Given the description of an element on the screen output the (x, y) to click on. 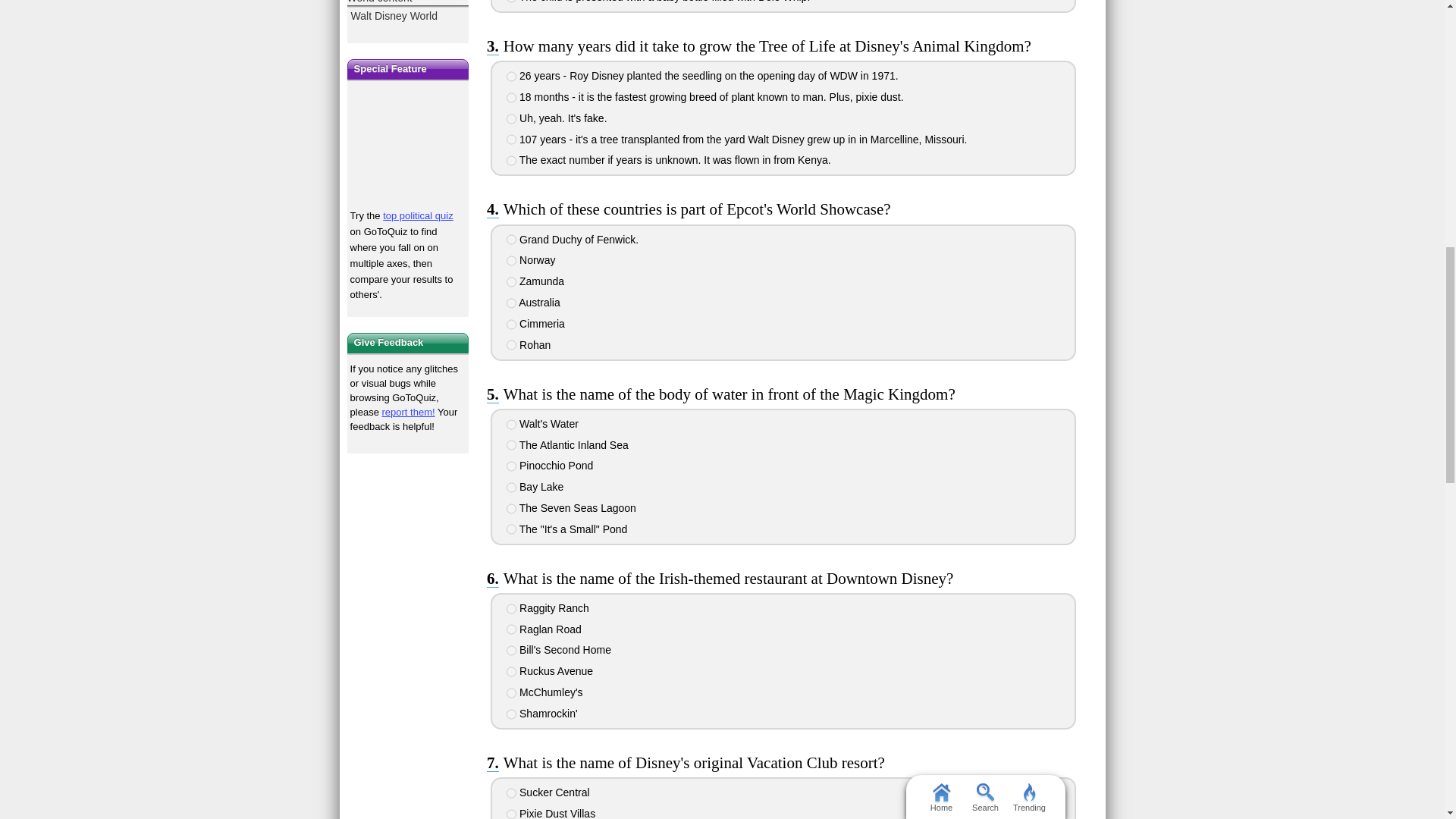
5 (511, 160)
top political quiz (417, 215)
report them! (408, 411)
4 (511, 139)
2 (511, 260)
Walt Disney World (407, 13)
2 (511, 97)
1 (511, 76)
3 (511, 118)
6 (511, 1)
Take our featured politics quiz (407, 146)
1 (511, 239)
3 (511, 281)
